Given the description of an element on the screen output the (x, y) to click on. 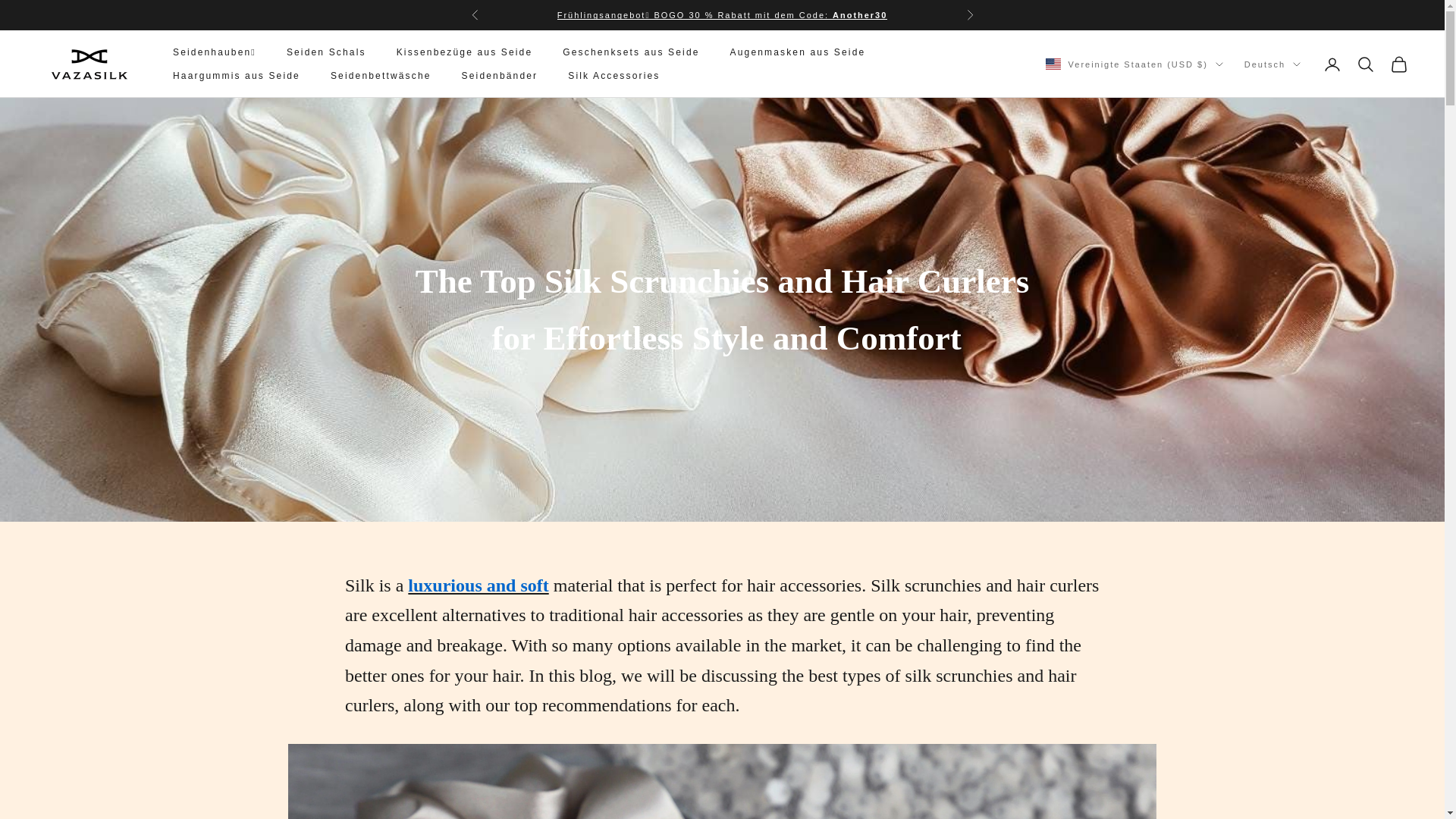
Seidenhauben (722, 14)
VAZASILK (89, 64)
Geschenksets aus Seide (630, 52)
VAZASILK silk bonnet (722, 781)
Seiden Schals (326, 52)
Haargummis aus Seide (236, 75)
Augenmasken aus Seide (798, 52)
Silk Accessories (613, 75)
